Given the description of an element on the screen output the (x, y) to click on. 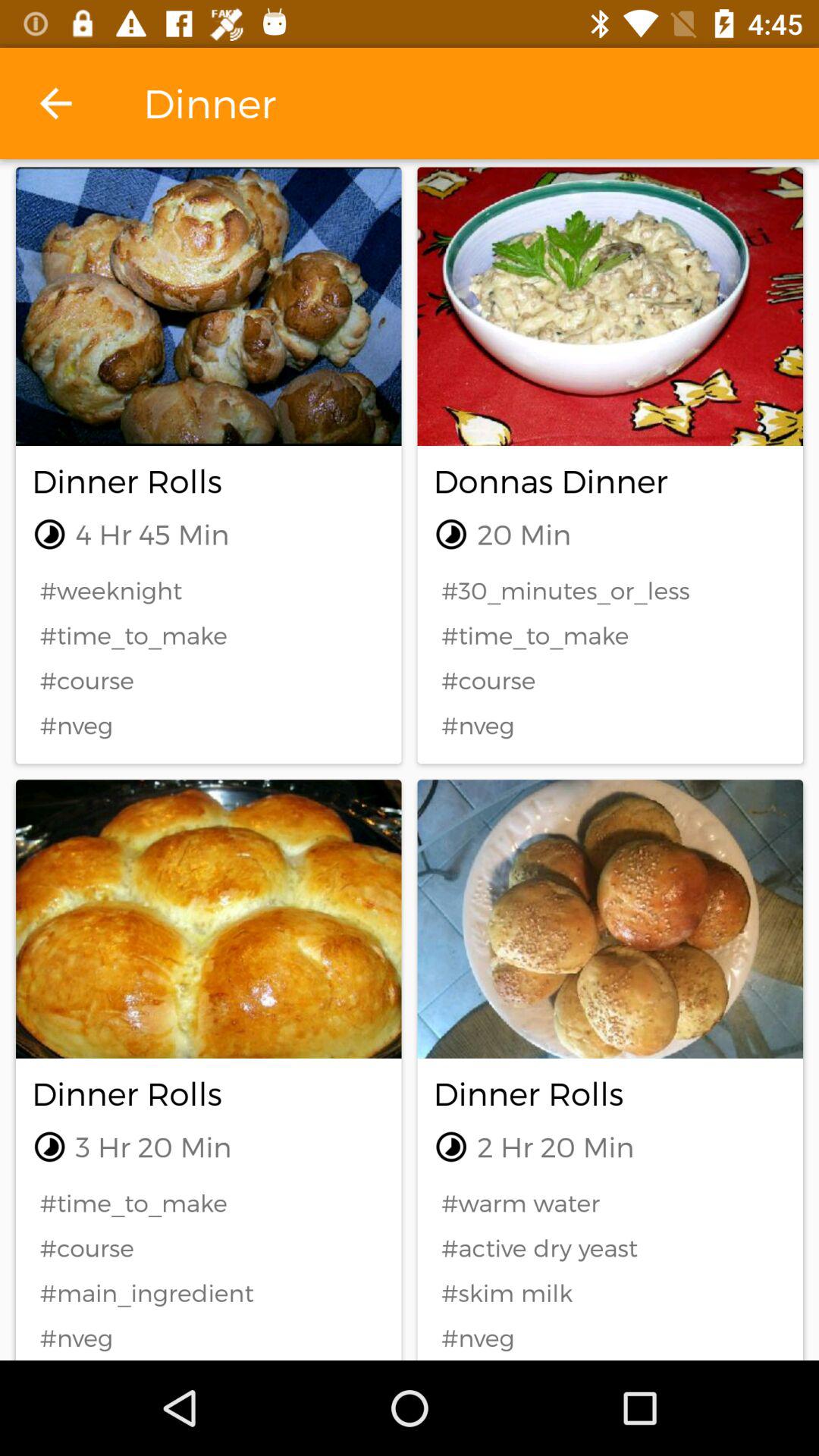
turn off the item next to dinner icon (55, 103)
